Given the description of an element on the screen output the (x, y) to click on. 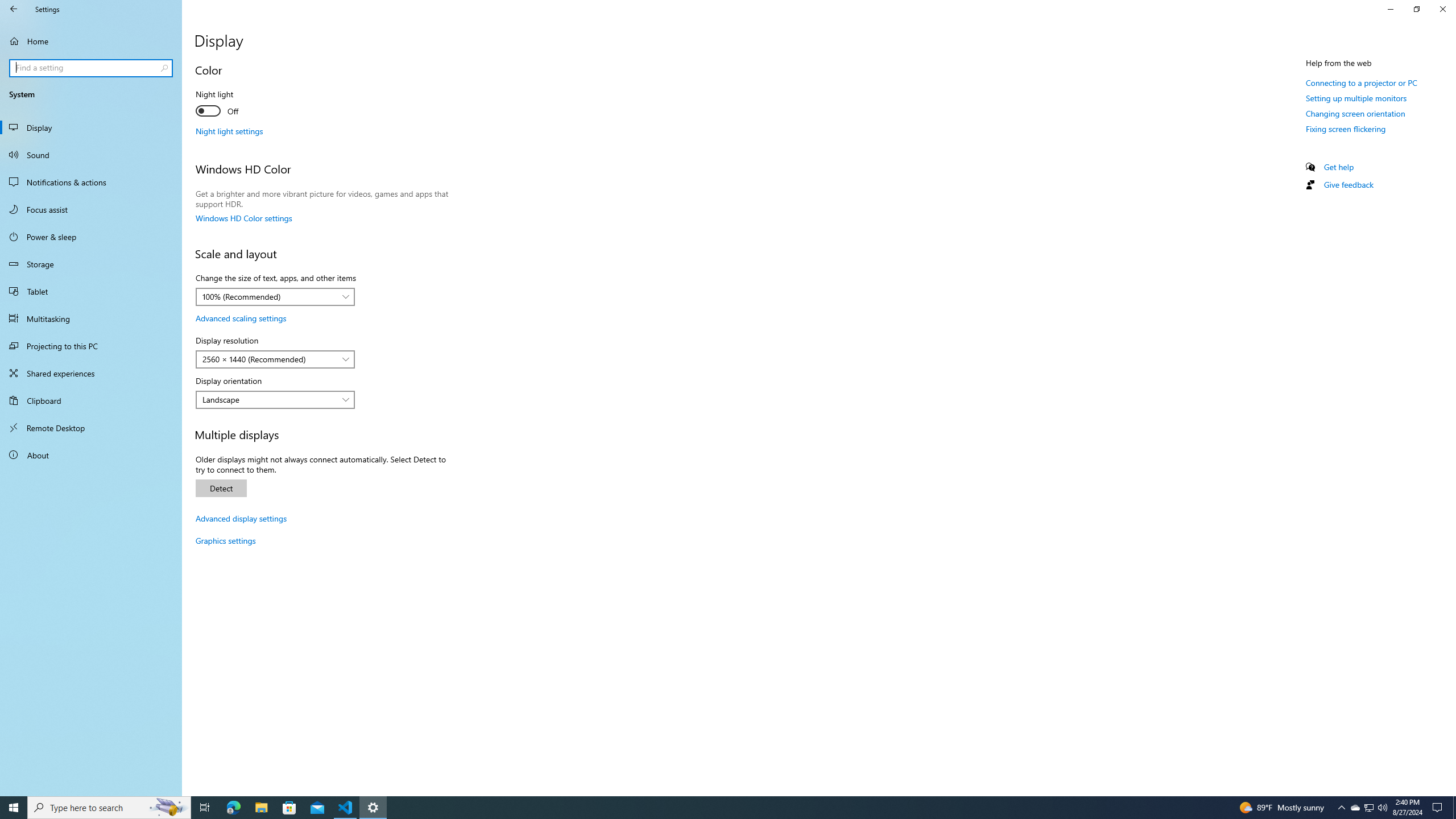
Display (91, 126)
Advanced scaling settings (240, 317)
Change the size of text, apps, and other items (275, 296)
100% (Recommended) (269, 296)
Remote Desktop (91, 427)
Detect (221, 488)
Display resolution (275, 359)
Projecting to this PC (91, 345)
About (91, 454)
